Given the description of an element on the screen output the (x, y) to click on. 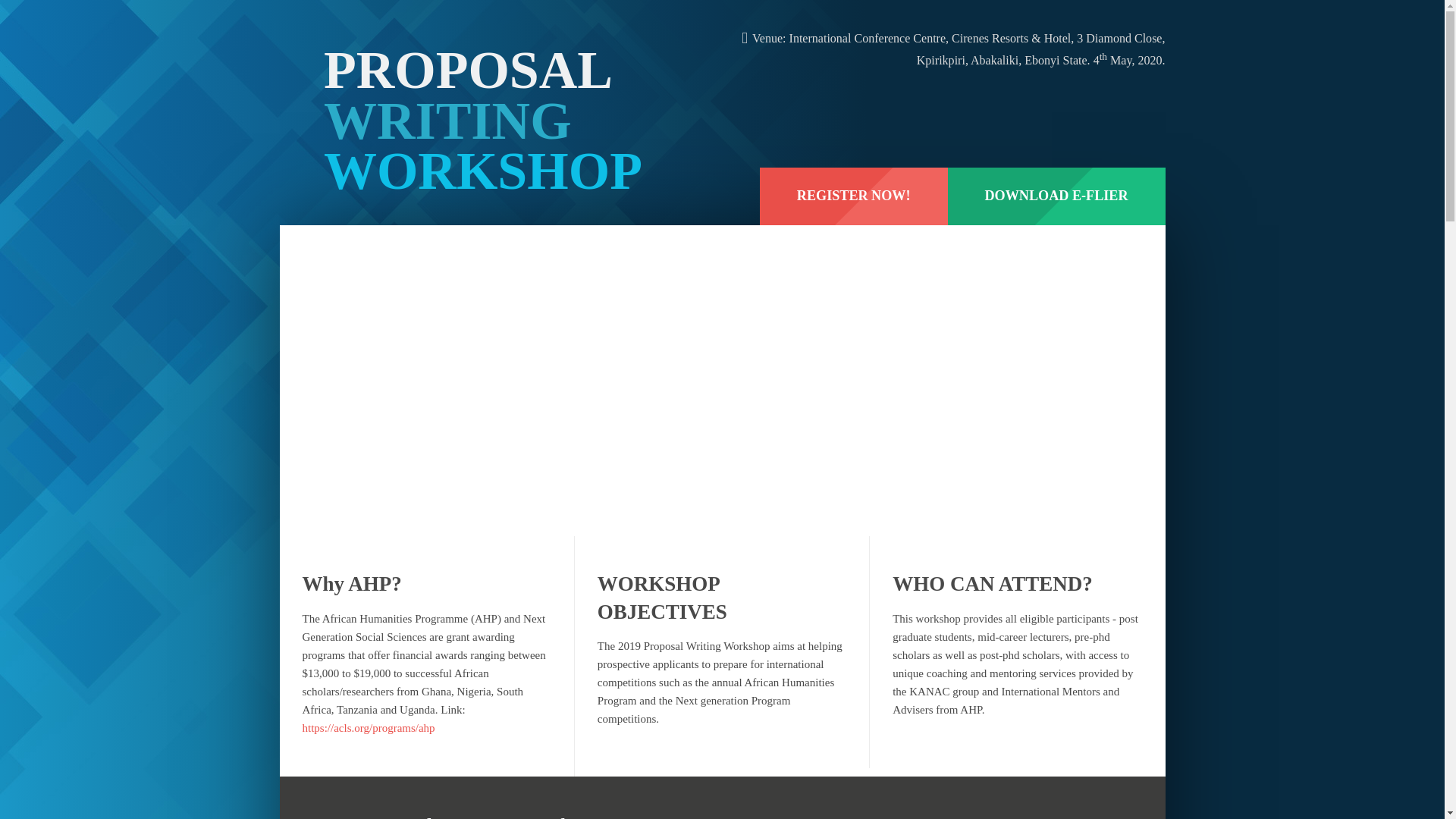
REGISTER NOW! (853, 196)
DOWNLOAD E-FLIER (1056, 196)
